Given the description of an element on the screen output the (x, y) to click on. 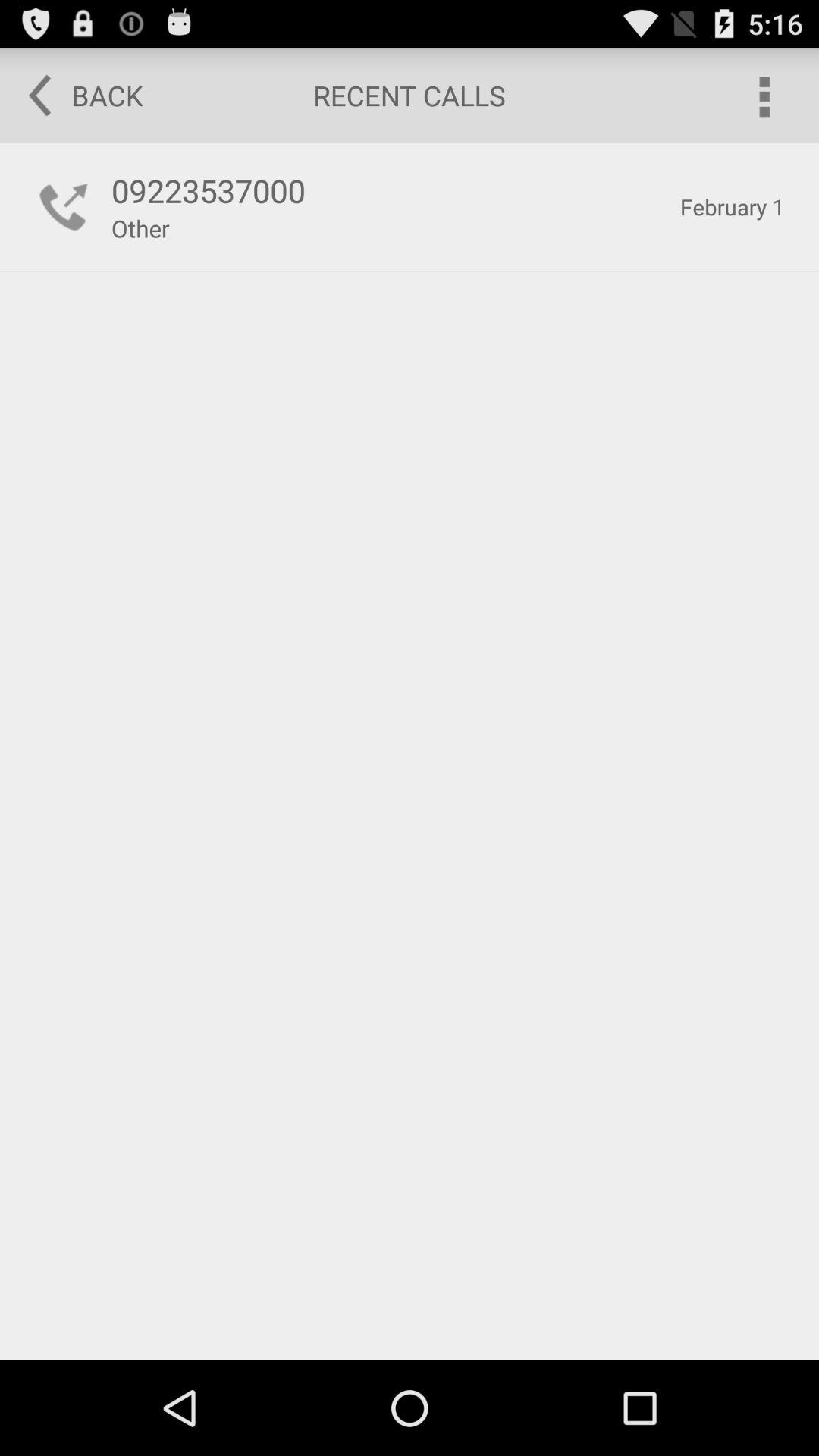
tap app next to february 1 item (140, 228)
